Given the description of an element on the screen output the (x, y) to click on. 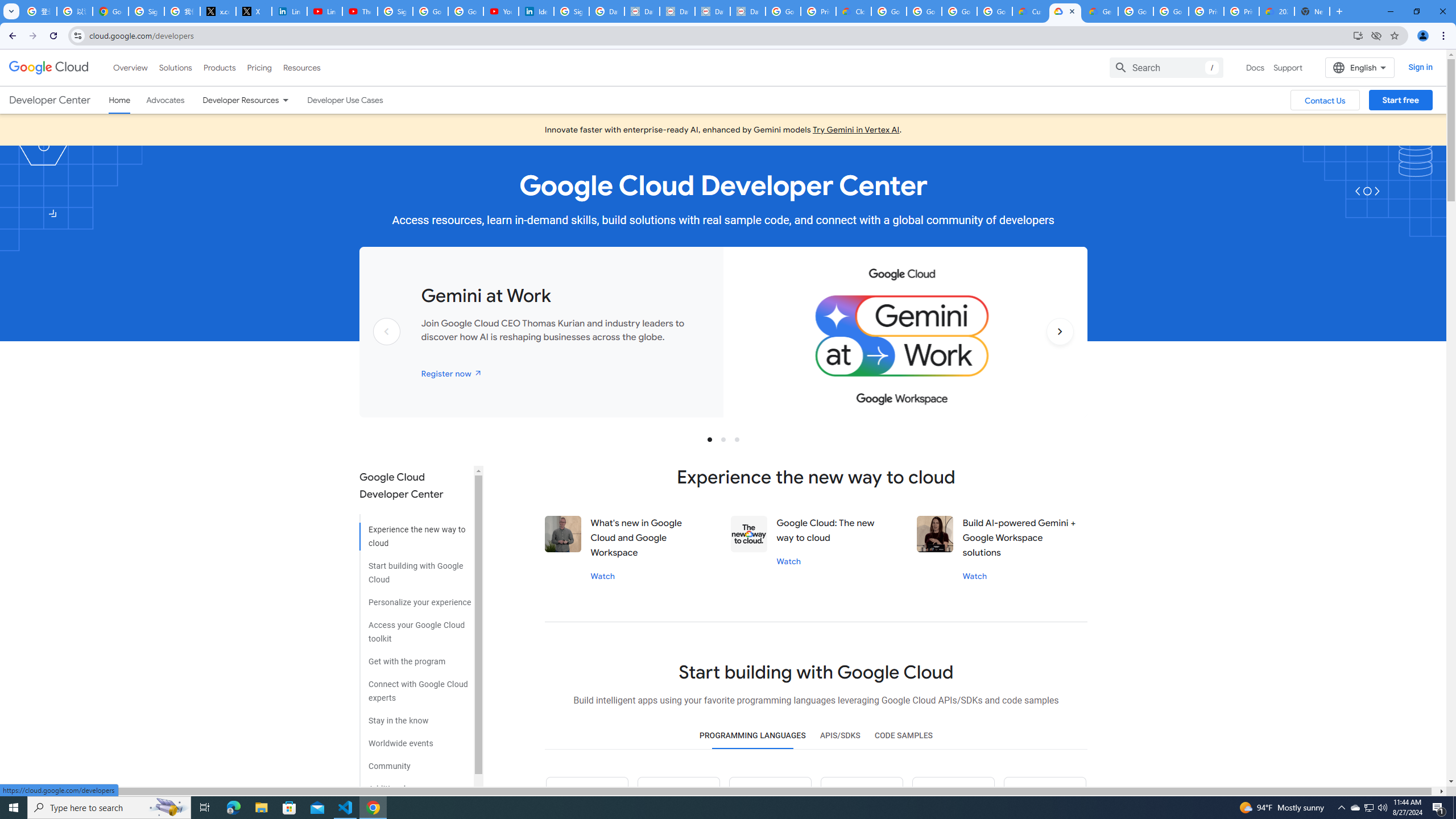
Start free (1400, 100)
Google Cloud Platform (1135, 11)
Identity verification via Persona | LinkedIn Help (536, 11)
Register now (451, 372)
Customer Care | Google Cloud (1029, 11)
APIS/SDKS (839, 735)
Sign in (1420, 67)
CPP icon (1044, 798)
Data Privacy Framework (677, 11)
Start building with Google Cloud (415, 568)
